Given the description of an element on the screen output the (x, y) to click on. 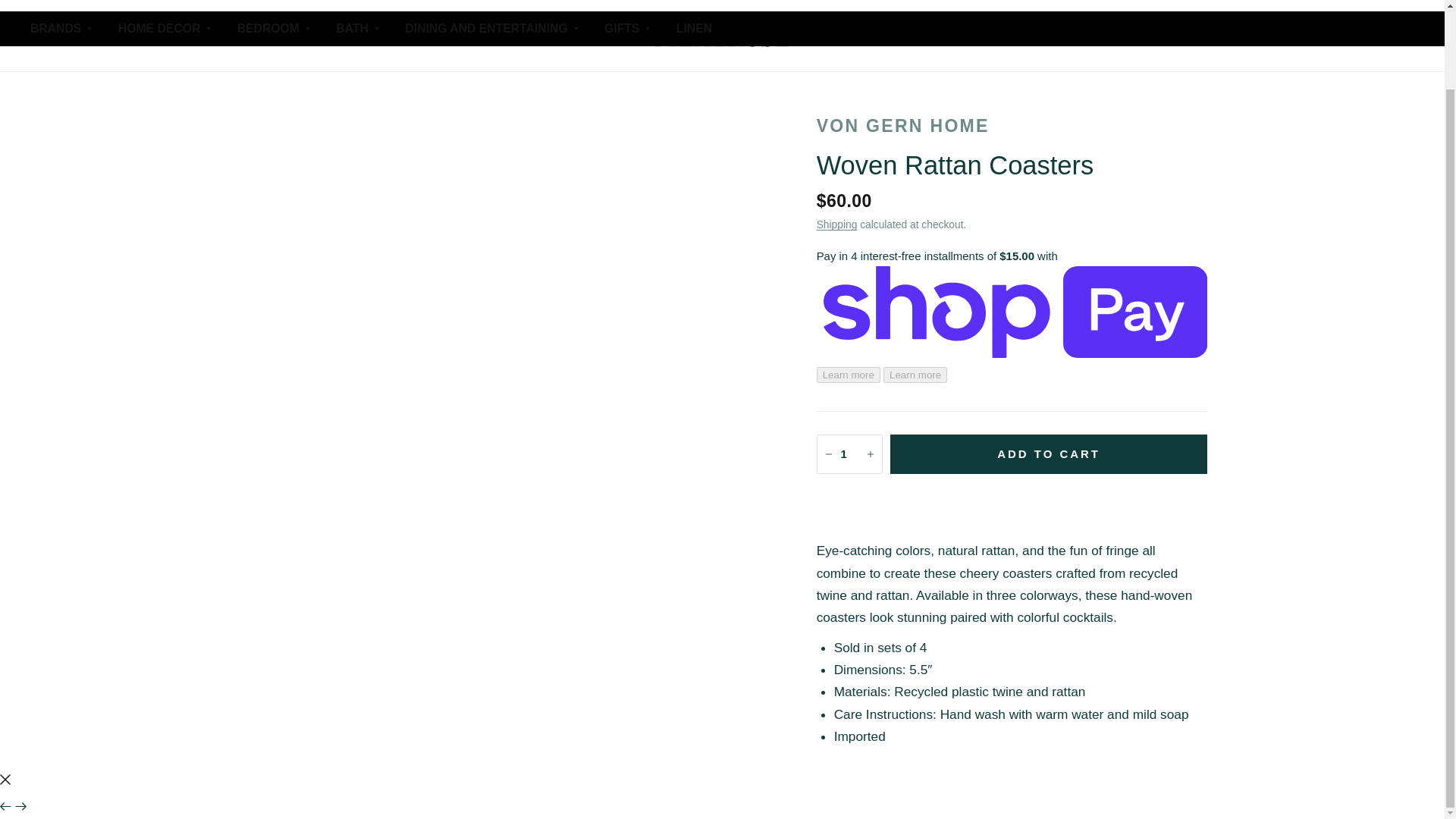
1 (849, 453)
